Given the description of an element on the screen output the (x, y) to click on. 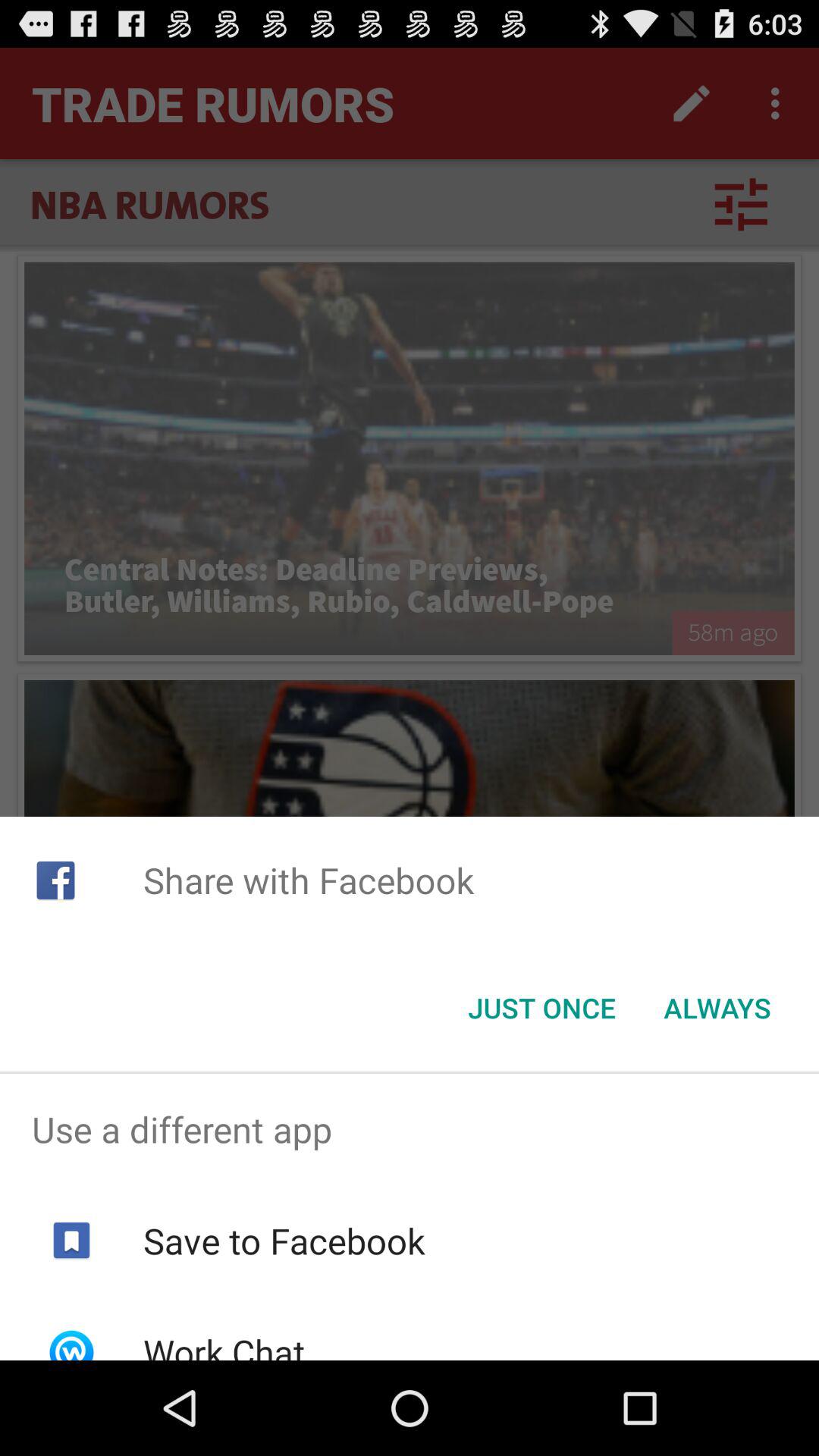
choose the work chat (223, 1344)
